Given the description of an element on the screen output the (x, y) to click on. 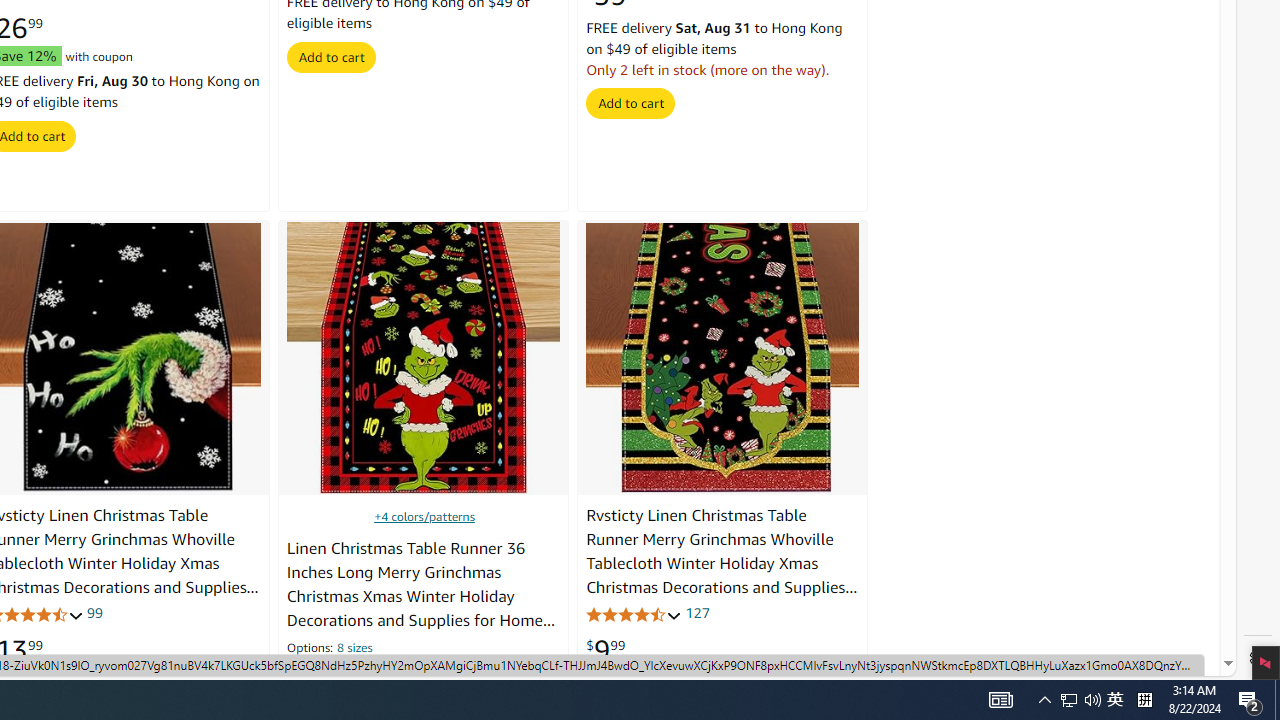
367 (397, 673)
4.7 out of 5 stars (333, 675)
$9.99 (605, 650)
127 (697, 612)
4.6 out of 5 stars (634, 614)
8 sizes (354, 649)
+4 colors/patterns (423, 516)
99 (94, 612)
